Given the description of an element on the screen output the (x, y) to click on. 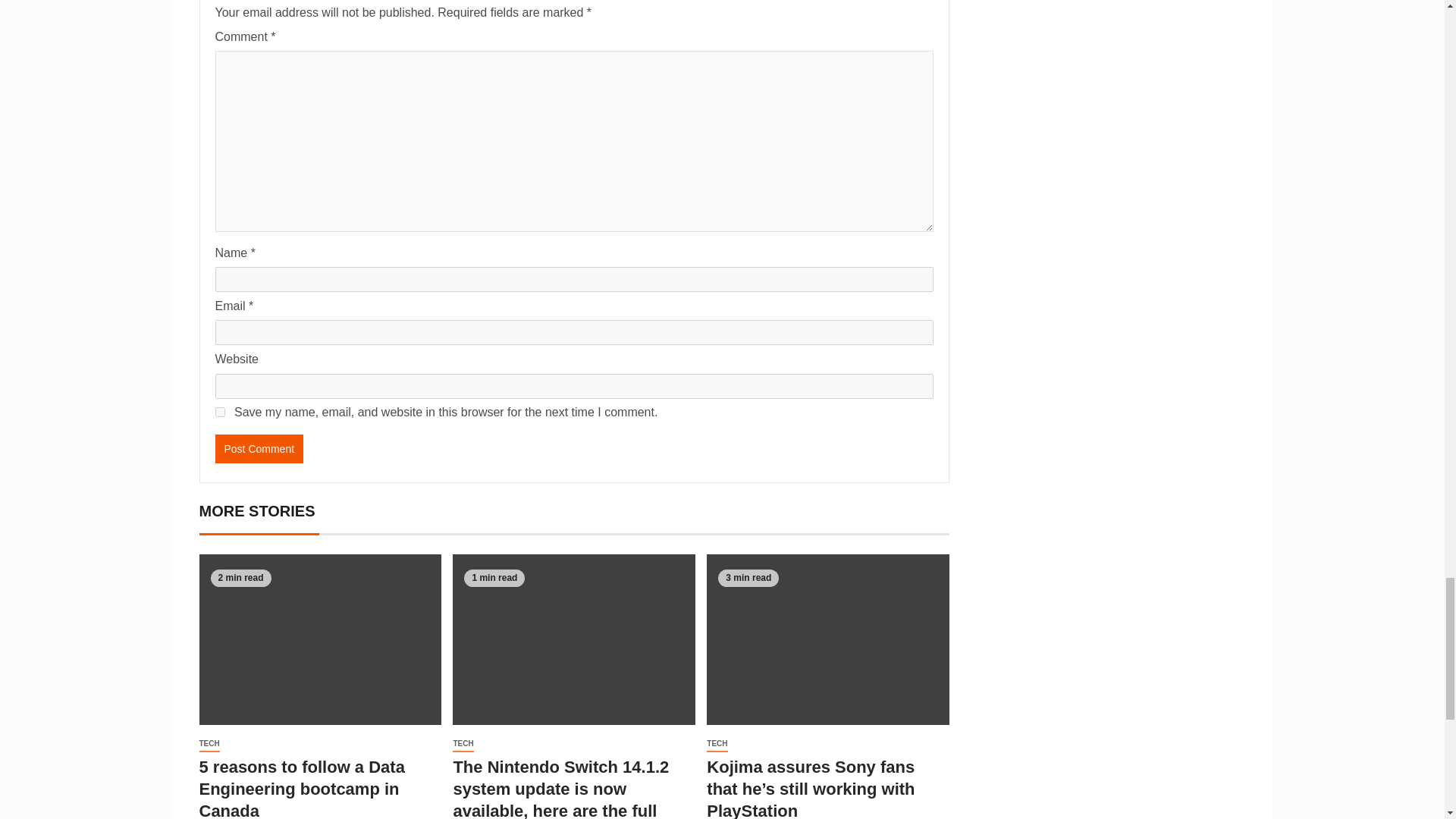
Post Comment (259, 448)
yes (220, 411)
Post Comment (259, 448)
5 reasons to follow a Data Engineering bootcamp in Canada (301, 788)
TECH (208, 744)
